Given the description of an element on the screen output the (x, y) to click on. 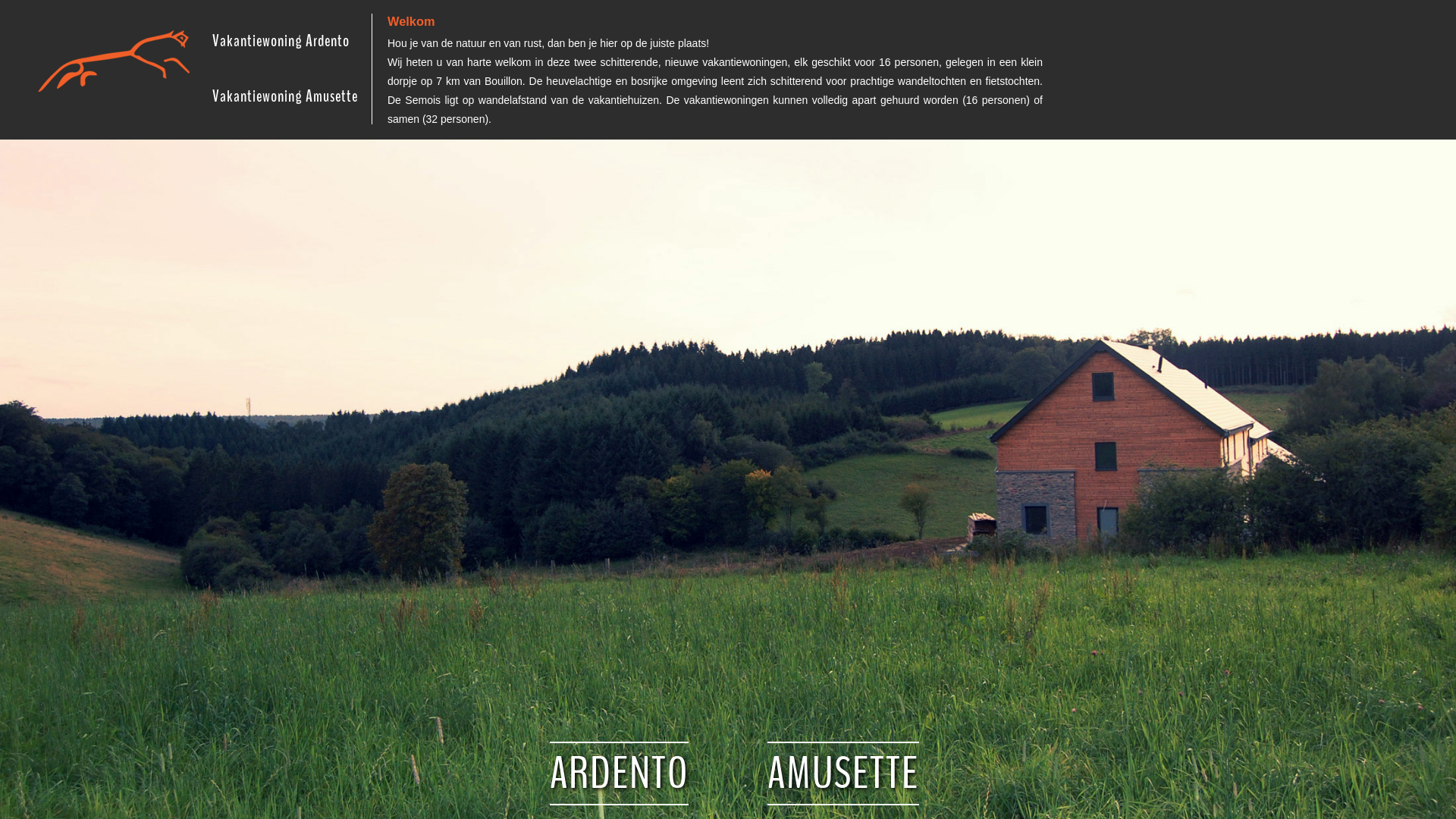
ARDENTO Element type: text (618, 773)
AMUSETTE Element type: text (843, 773)
Vakantiewoning Amusette Element type: text (284, 95)
Vakantiewoning Ardento Element type: text (280, 40)
